Given the description of an element on the screen output the (x, y) to click on. 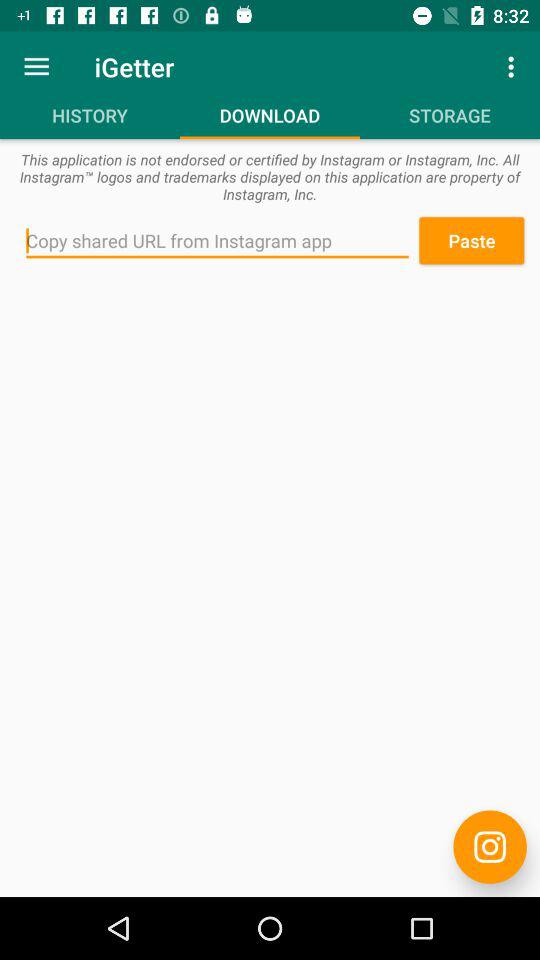
open the icon above the storage icon (513, 66)
